Given the description of an element on the screen output the (x, y) to click on. 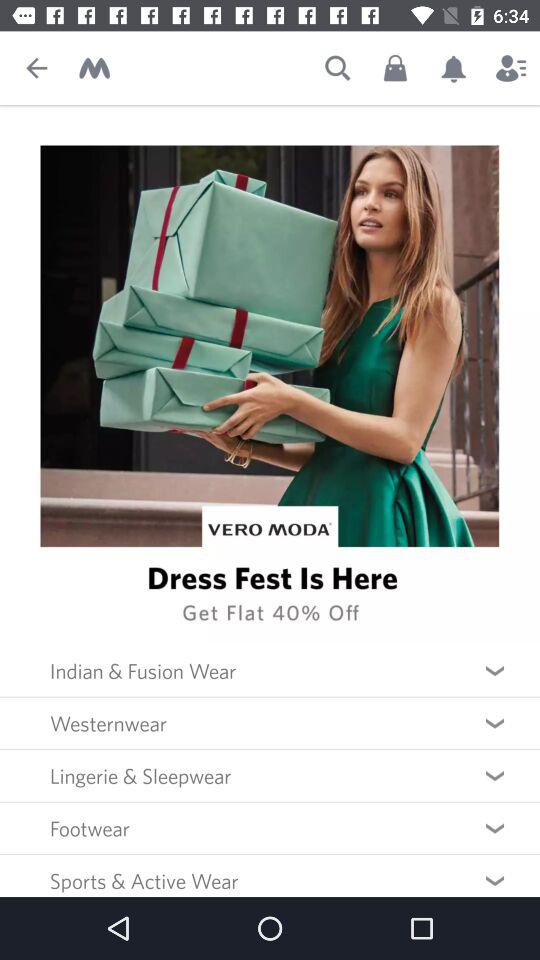
select account menu (511, 68)
